Given the description of an element on the screen output the (x, y) to click on. 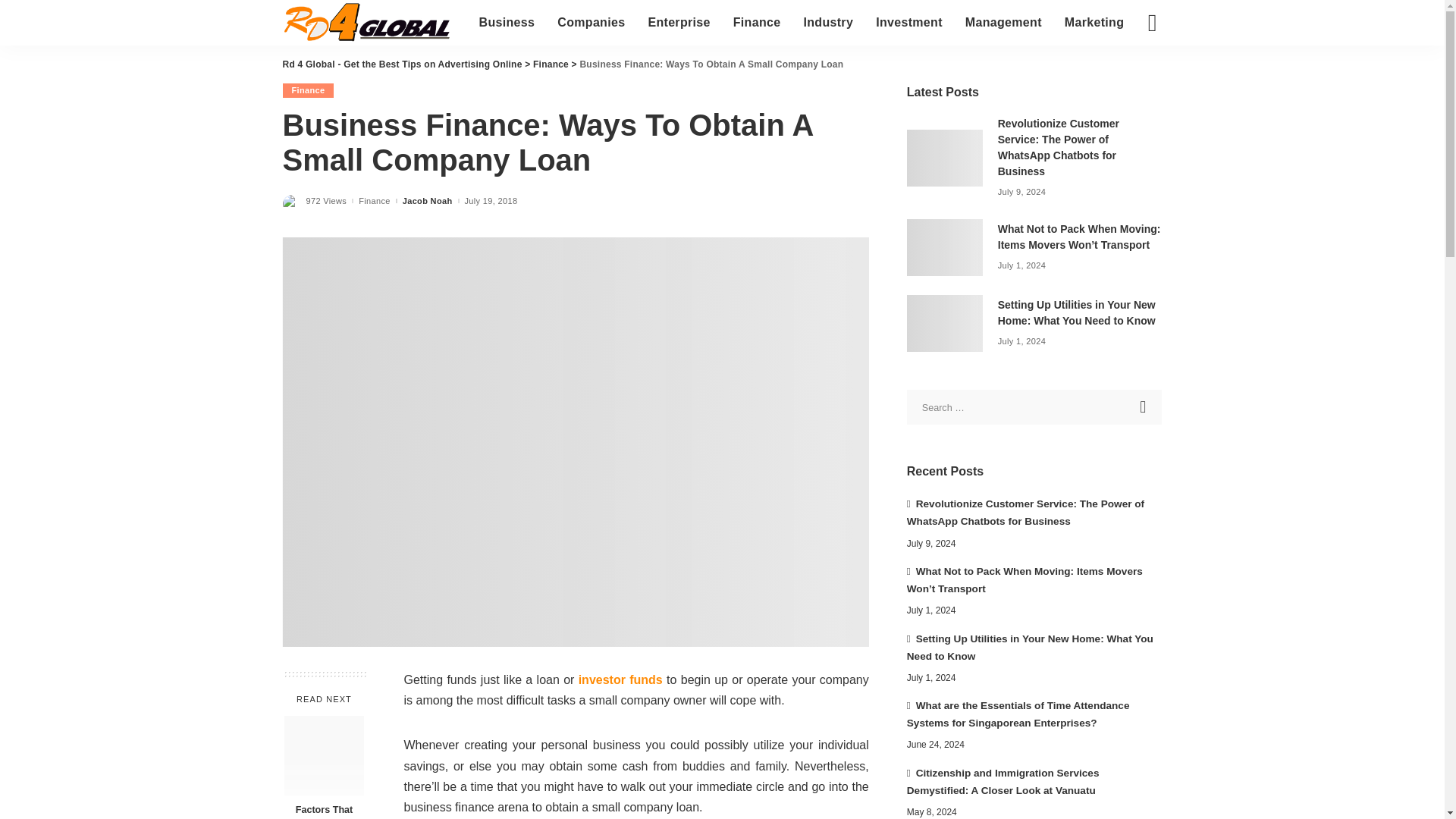
investor funds (620, 679)
Management (1002, 22)
Business (507, 22)
Industry (828, 22)
Go to Rd 4 Global - Get the Best Tips on Advertising Online. (401, 63)
Marketing (1093, 22)
Rd 4 Global - Get the Best Tips on Advertising Online (368, 22)
Factors That Affect the Premium of Your Pet Insurance (323, 755)
Finance (757, 22)
Enterprise (678, 22)
